Given the description of an element on the screen output the (x, y) to click on. 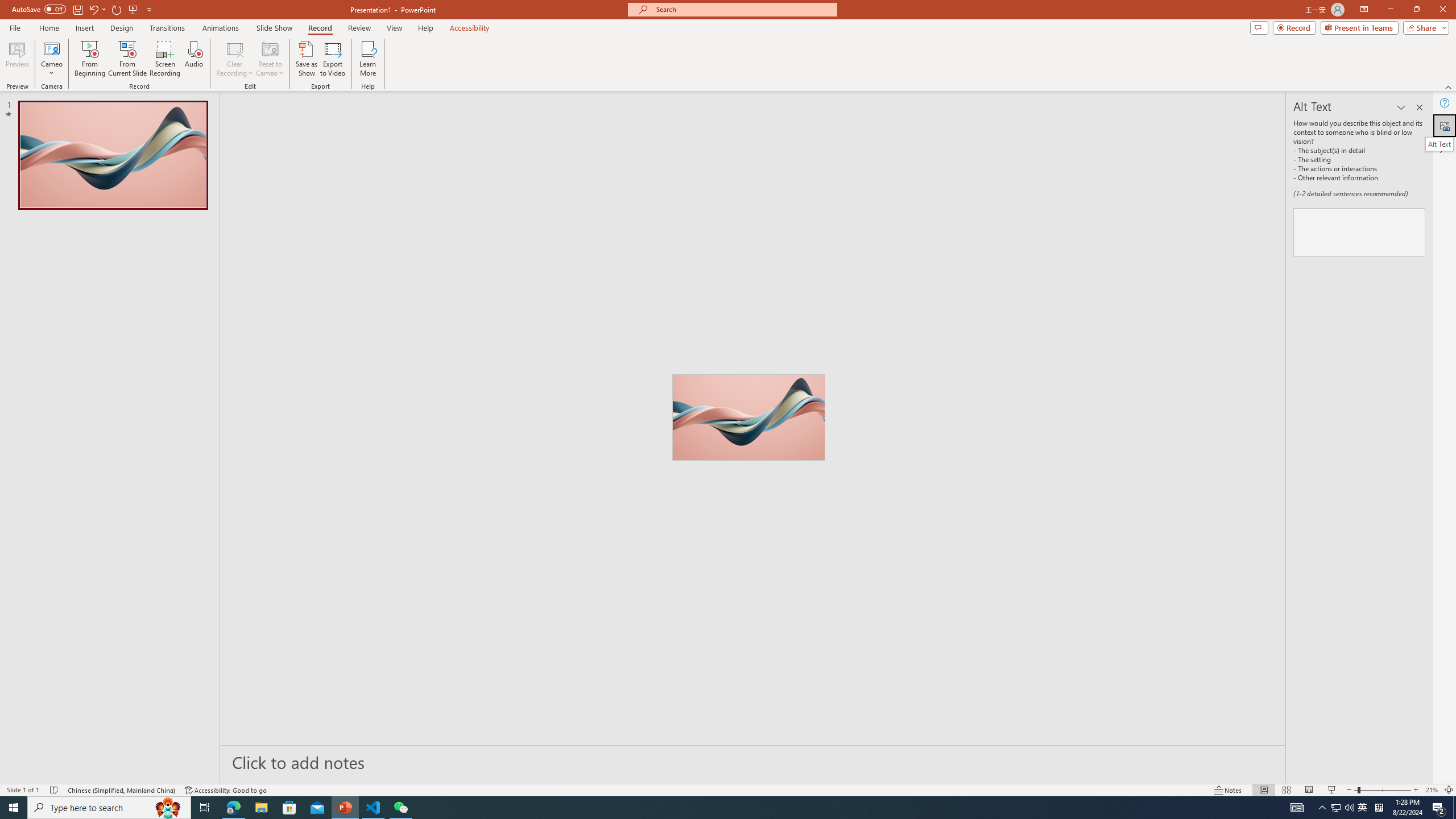
Wavy 3D art (748, 417)
